Given the description of an element on the screen output the (x, y) to click on. 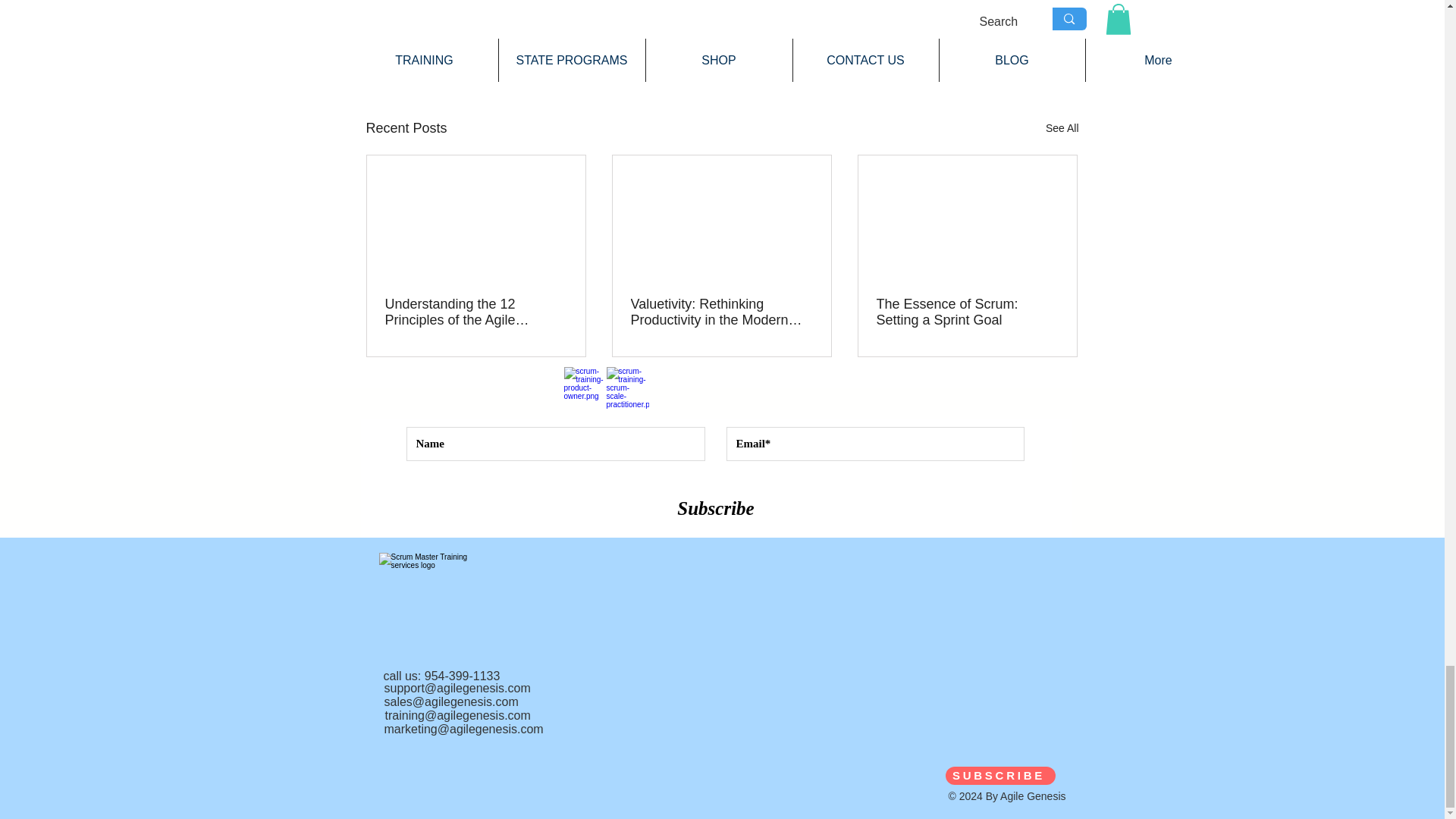
The Essence of Scrum: Setting a Sprint Goal (967, 312)
Understanding the 12 Principles of the Agile Manifesto (476, 312)
Valuetivity: Rethinking Productivity in the Modern Age (721, 312)
See All (1061, 128)
